Given the description of an element on the screen output the (x, y) to click on. 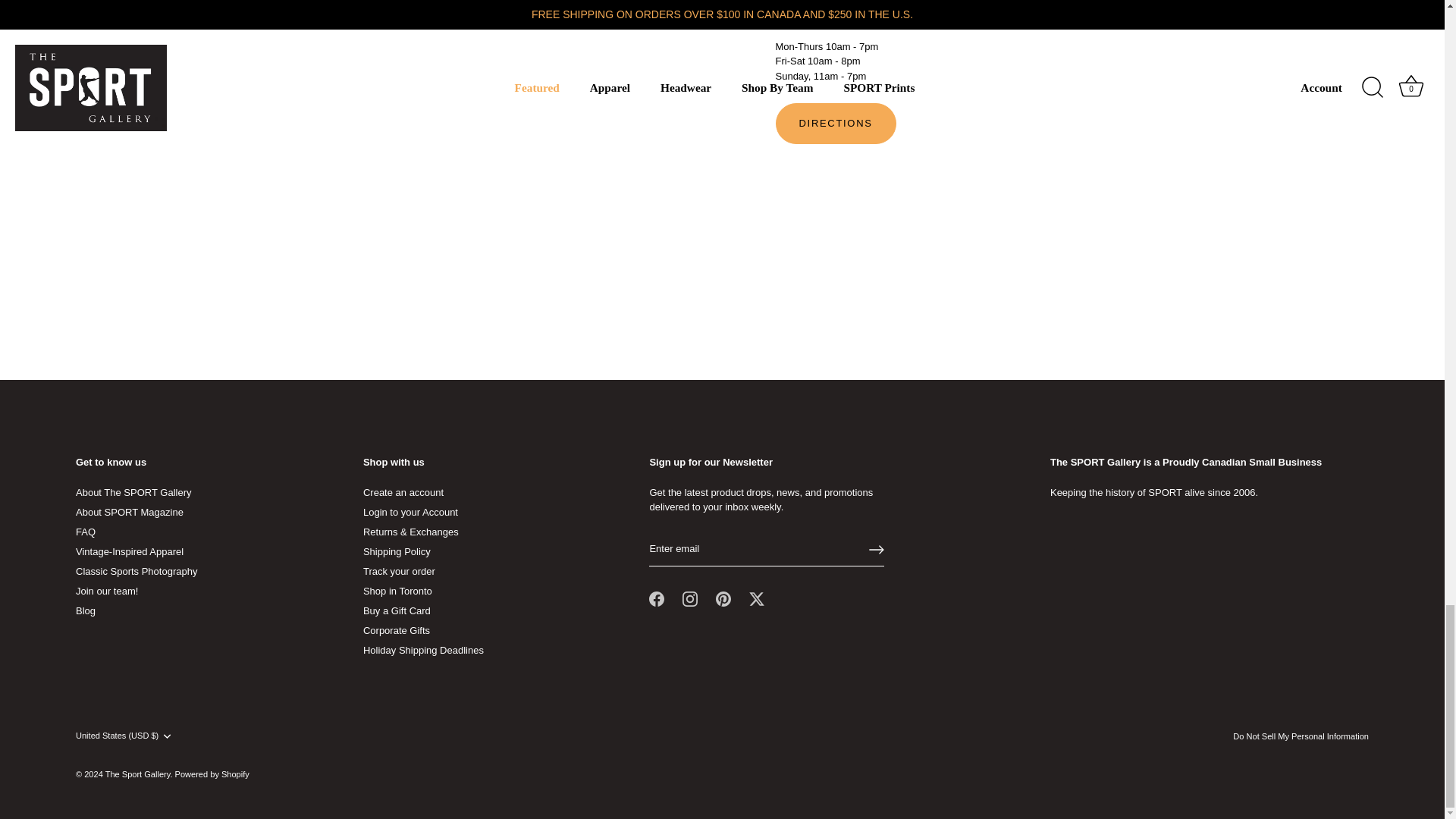
Pinterest (723, 598)
Instagram (689, 598)
RIGHT ARROW LONG (876, 549)
